Given the description of an element on the screen output the (x, y) to click on. 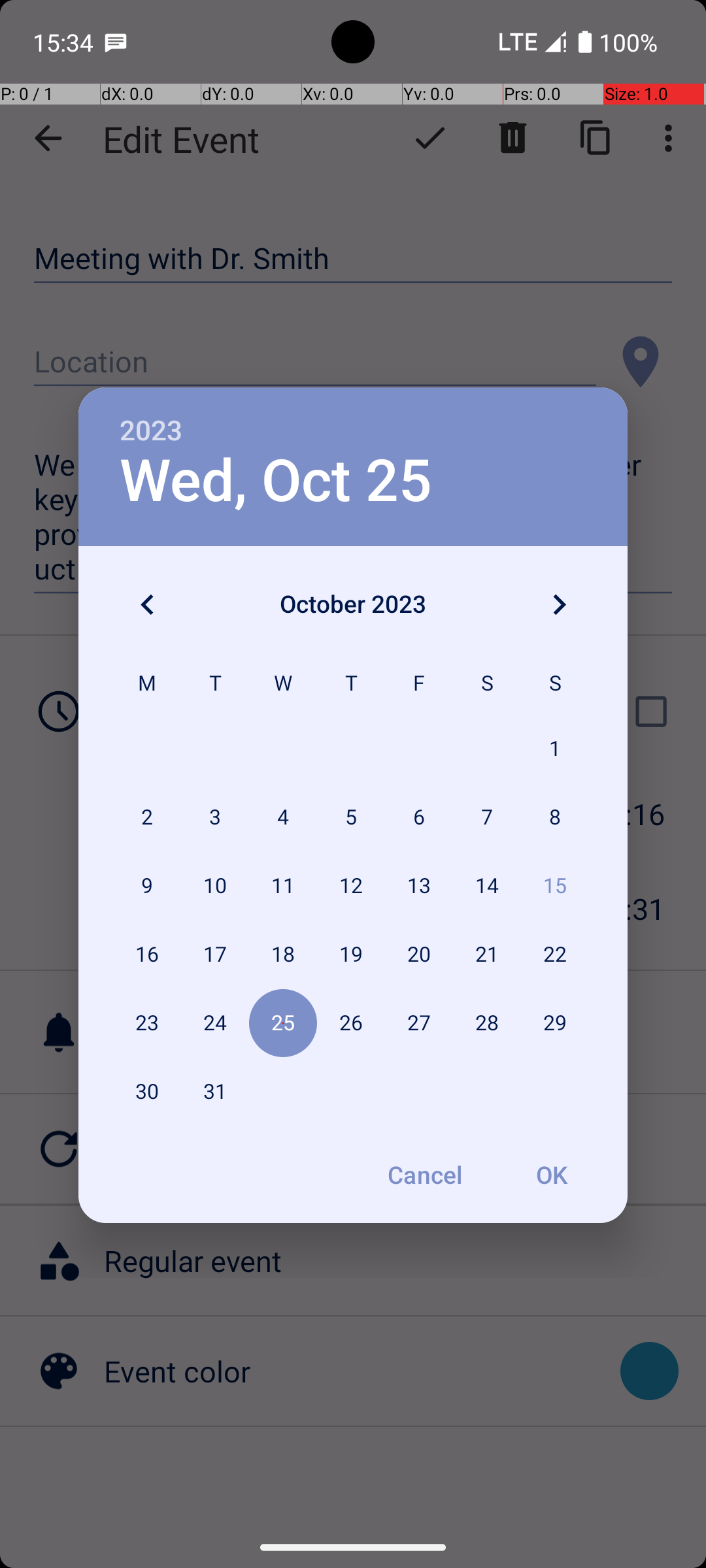
Wed, Oct 25 Element type: android.widget.TextView (275, 480)
